Given the description of an element on the screen output the (x, y) to click on. 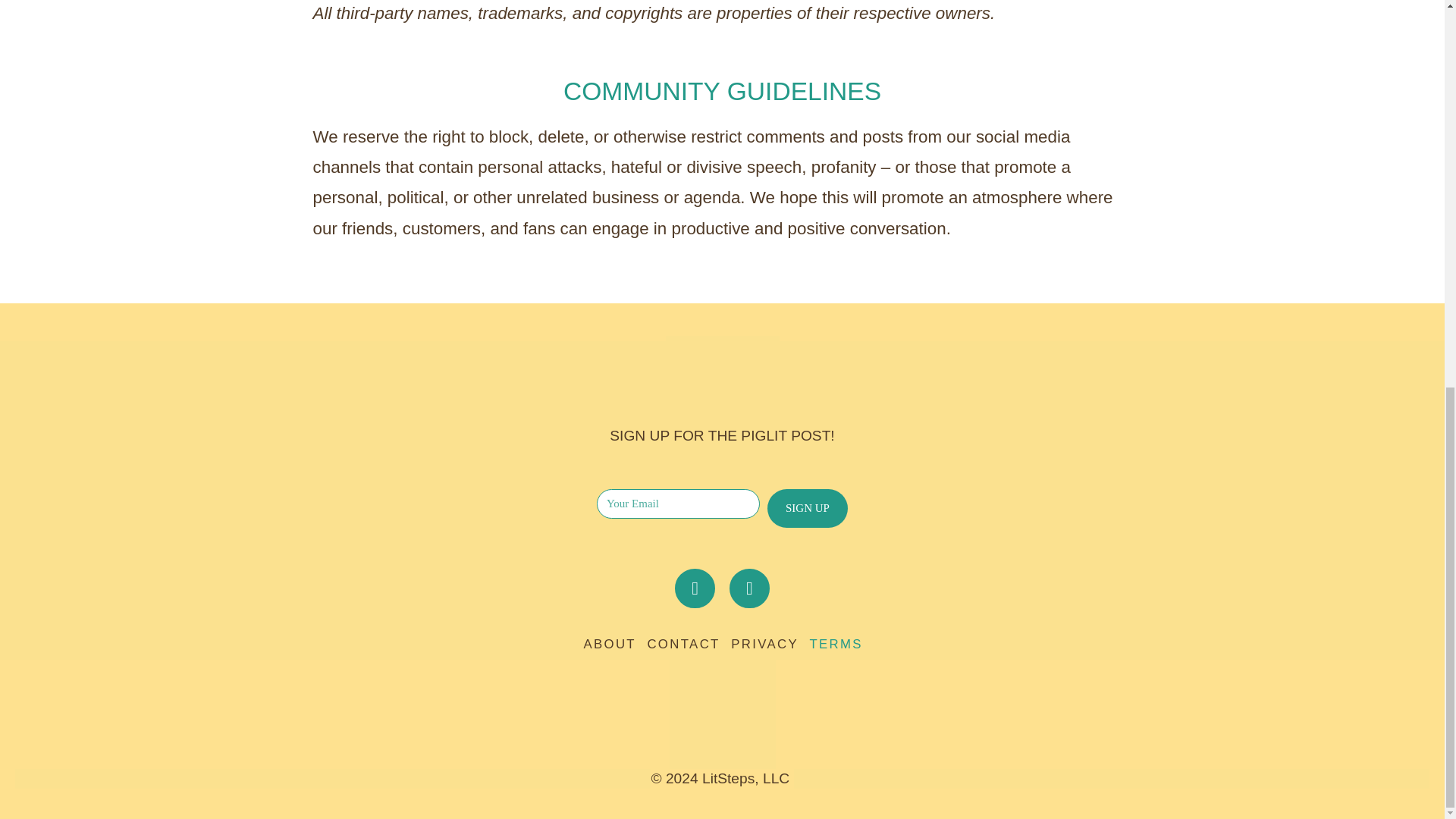
TERMS (835, 644)
SIGN UP (807, 507)
CONTACT (681, 644)
PRIVACY (763, 644)
ABOUT (608, 644)
